Given the description of an element on the screen output the (x, y) to click on. 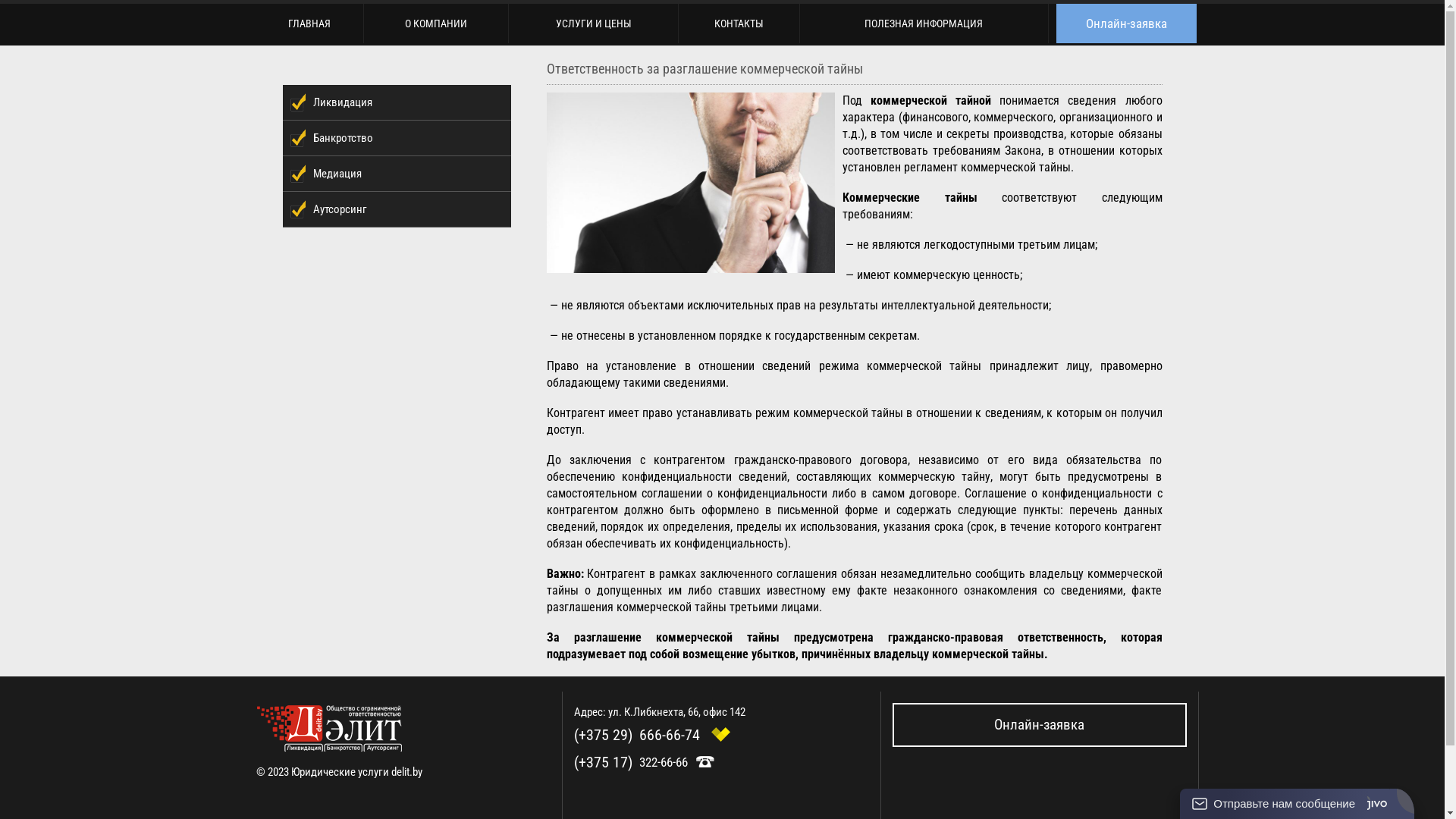
(+375 29)
666-66-74  Element type: text (638, 734)
322-66-66 Element type: text (663, 761)
(+375 17) Element type: text (603, 761)
